Given the description of an element on the screen output the (x, y) to click on. 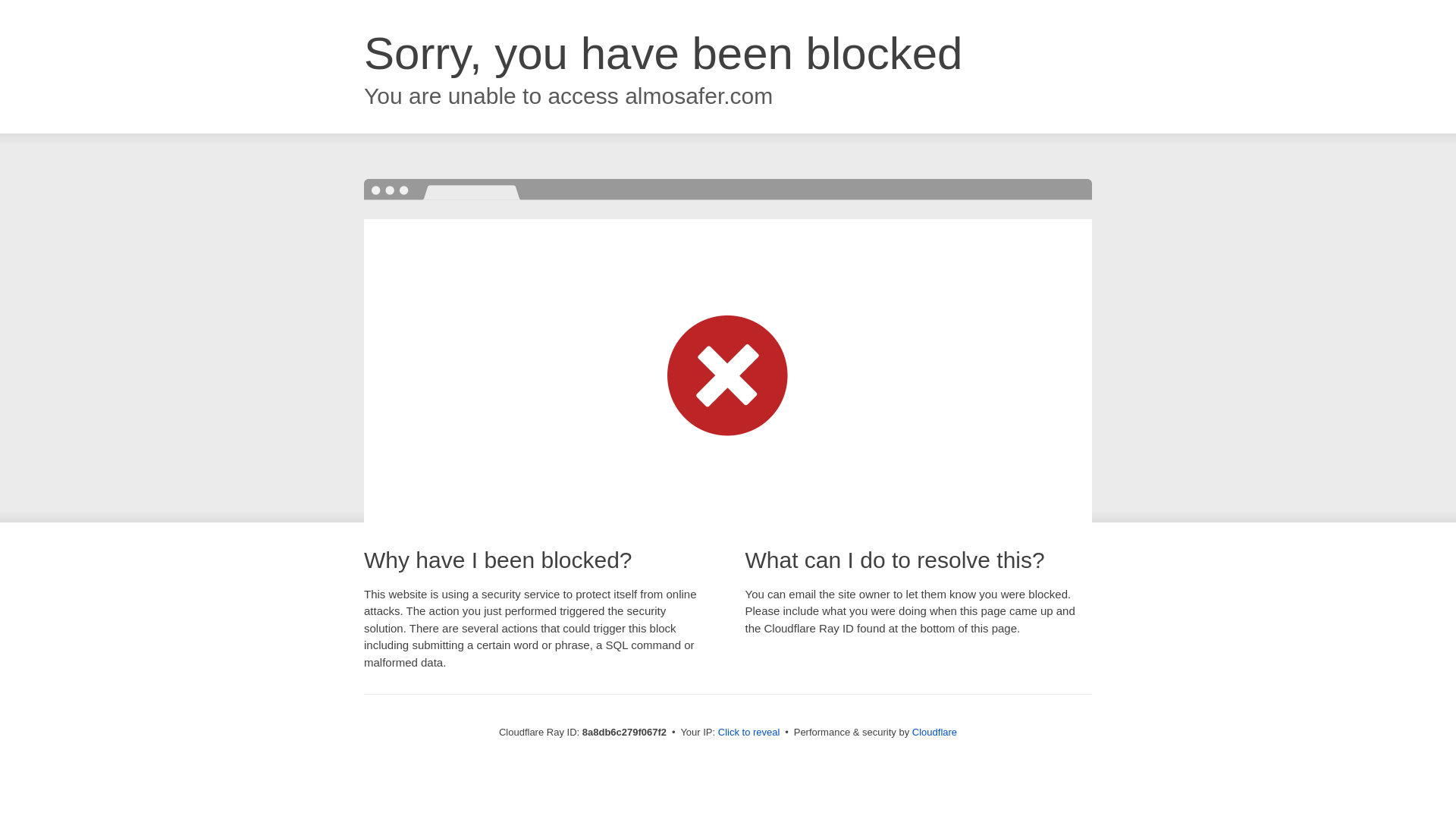
Click to reveal (748, 732)
Cloudflare (934, 731)
